Given the description of an element on the screen output the (x, y) to click on. 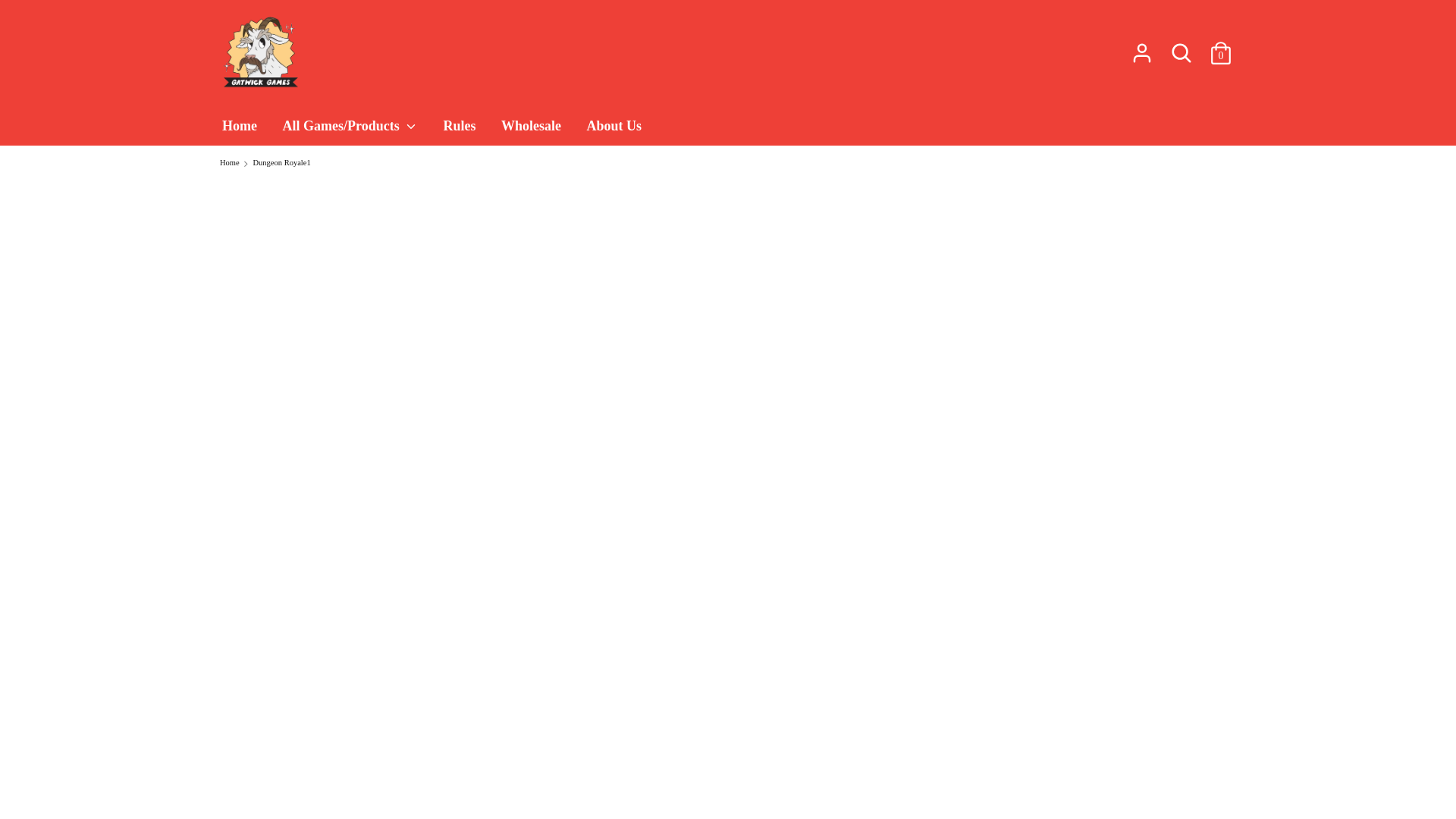
Rules (458, 130)
Wholesale (530, 130)
About Us (613, 130)
Home (239, 130)
0 (1220, 45)
Search (1181, 52)
